Given the description of an element on the screen output the (x, y) to click on. 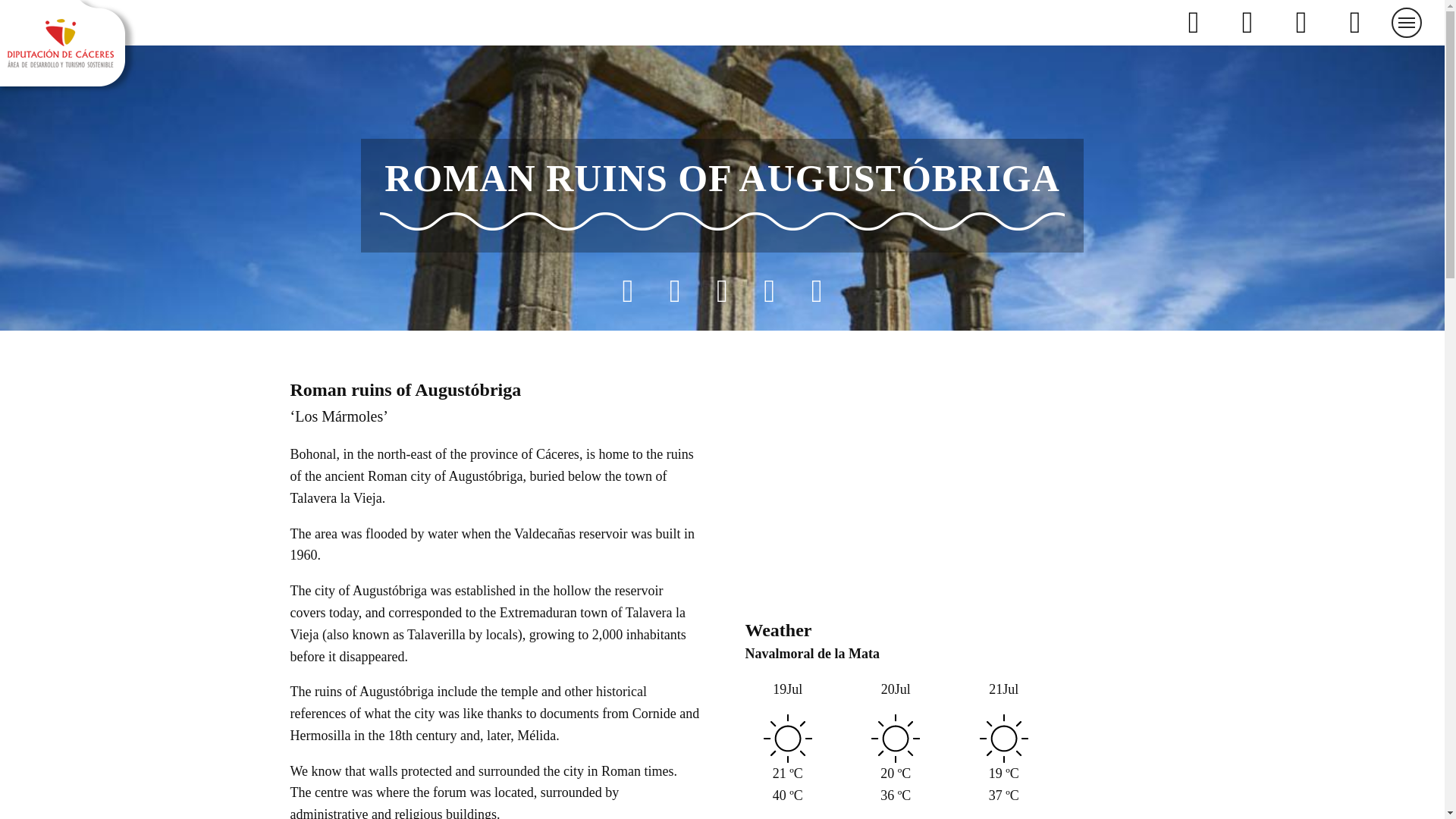
Menu (1406, 22)
Buscar en la web (1302, 22)
Mapa (1194, 22)
Nuestras redes sociales (1356, 22)
Mi hoja de ruta (1248, 22)
